Given the description of an element on the screen output the (x, y) to click on. 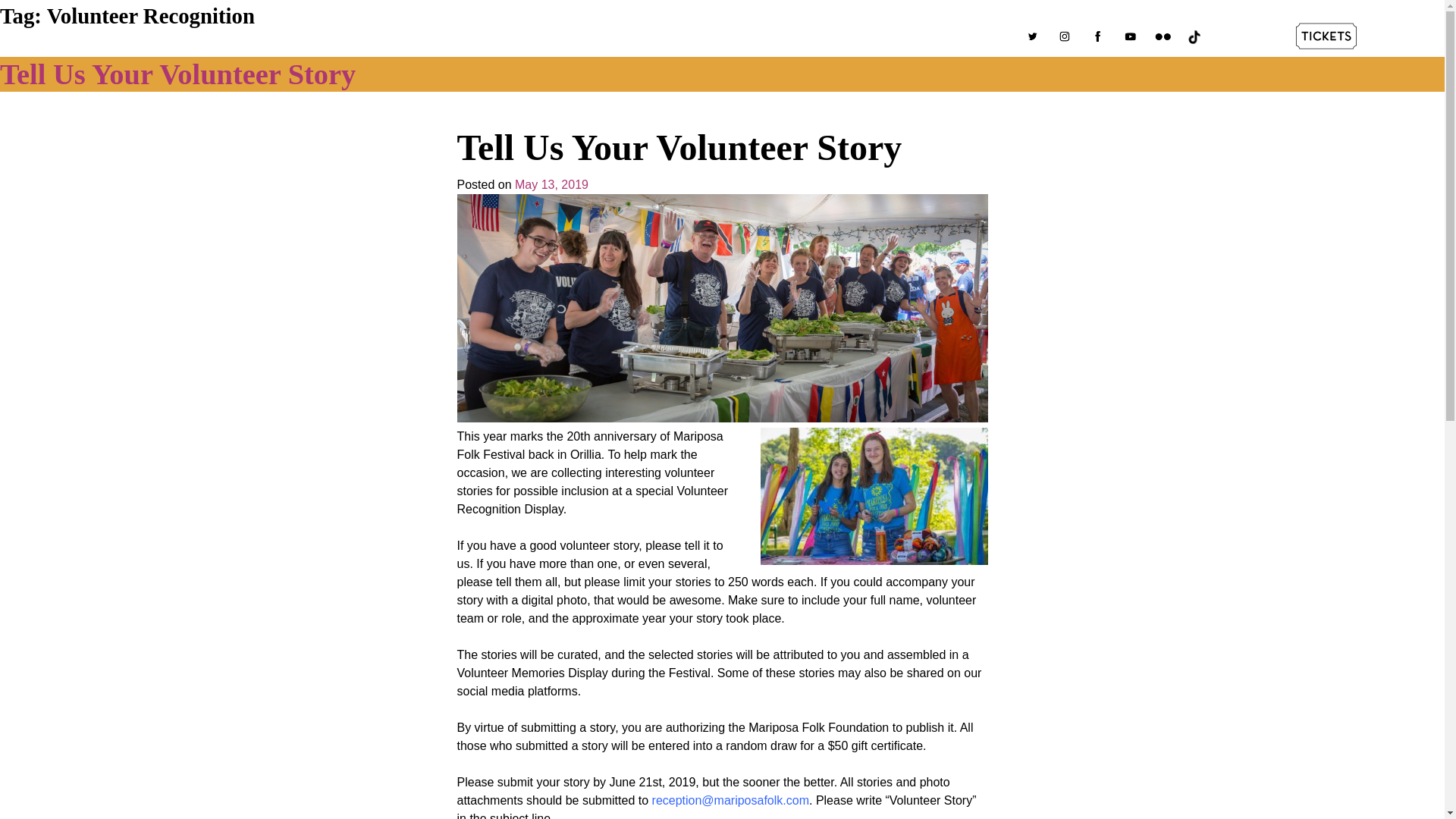
Mariposa Folk Festival (301, 64)
What Goes On (543, 38)
Our Stories (717, 38)
Lineup (460, 38)
Event Info (635, 38)
